Given the description of an element on the screen output the (x, y) to click on. 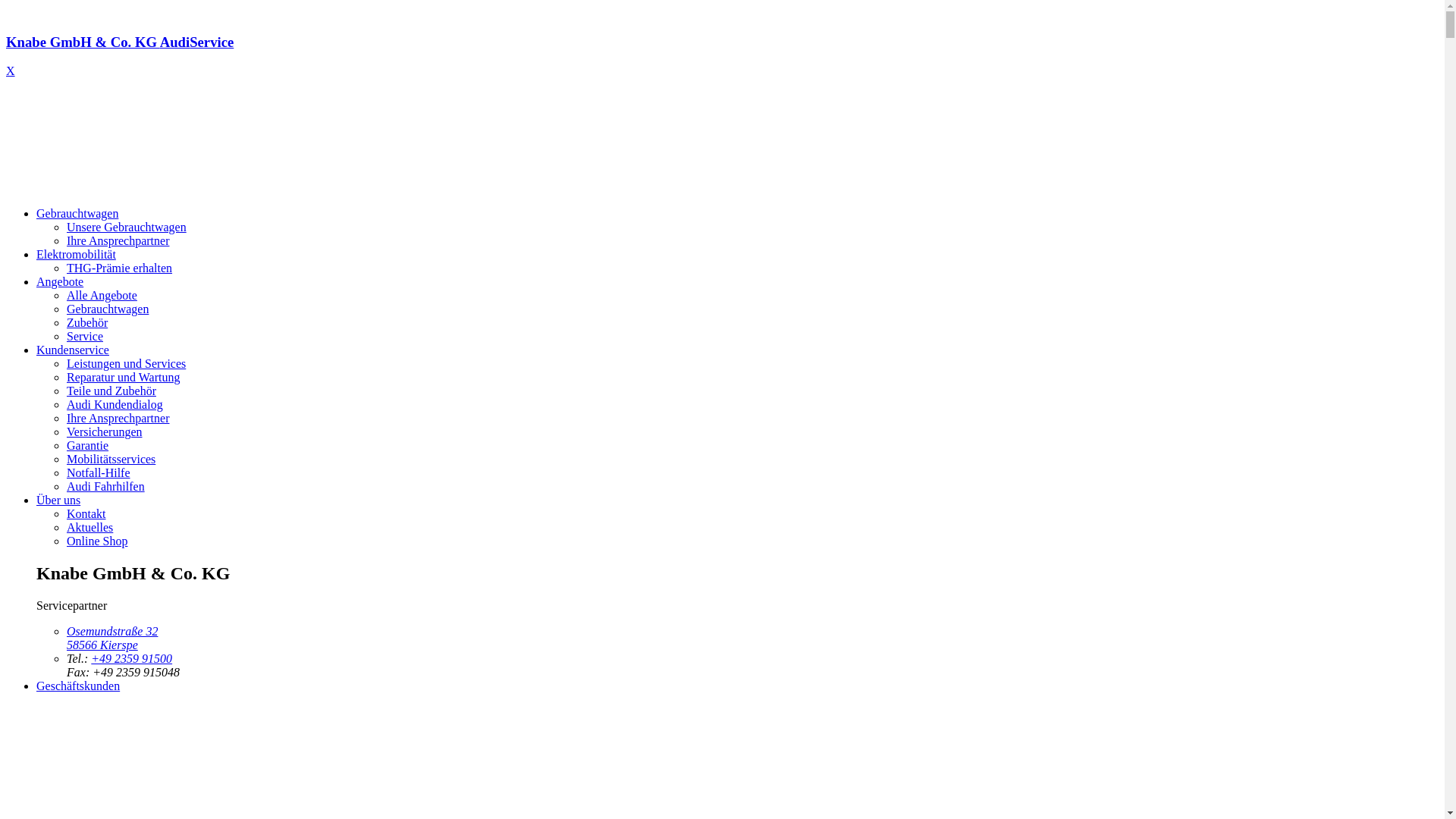
Angebote Element type: text (59, 281)
Audi Fahrhilfen Element type: text (105, 486)
Unsere Gebrauchtwagen Element type: text (126, 226)
Aktuelles Element type: text (89, 526)
Leistungen und Services Element type: text (125, 363)
Online Shop Element type: text (96, 540)
Garantie Element type: text (87, 445)
Gebrauchtwagen Element type: text (107, 308)
Knabe GmbH & Co. KG AudiService Element type: text (722, 56)
Gebrauchtwagen Element type: text (77, 213)
Reparatur und Wartung Element type: text (122, 376)
Audi Kundendialog Element type: text (114, 404)
+49 2359 91500 Element type: text (131, 658)
Ihre Ansprechpartner Element type: text (117, 240)
X Element type: text (10, 70)
Service Element type: text (84, 335)
Ihre Ansprechpartner Element type: text (117, 417)
Alle Angebote Element type: text (101, 294)
Kundenservice Element type: text (72, 349)
Versicherungen Element type: text (104, 431)
Kontakt Element type: text (86, 513)
Notfall-Hilfe Element type: text (98, 472)
